Given the description of an element on the screen output the (x, y) to click on. 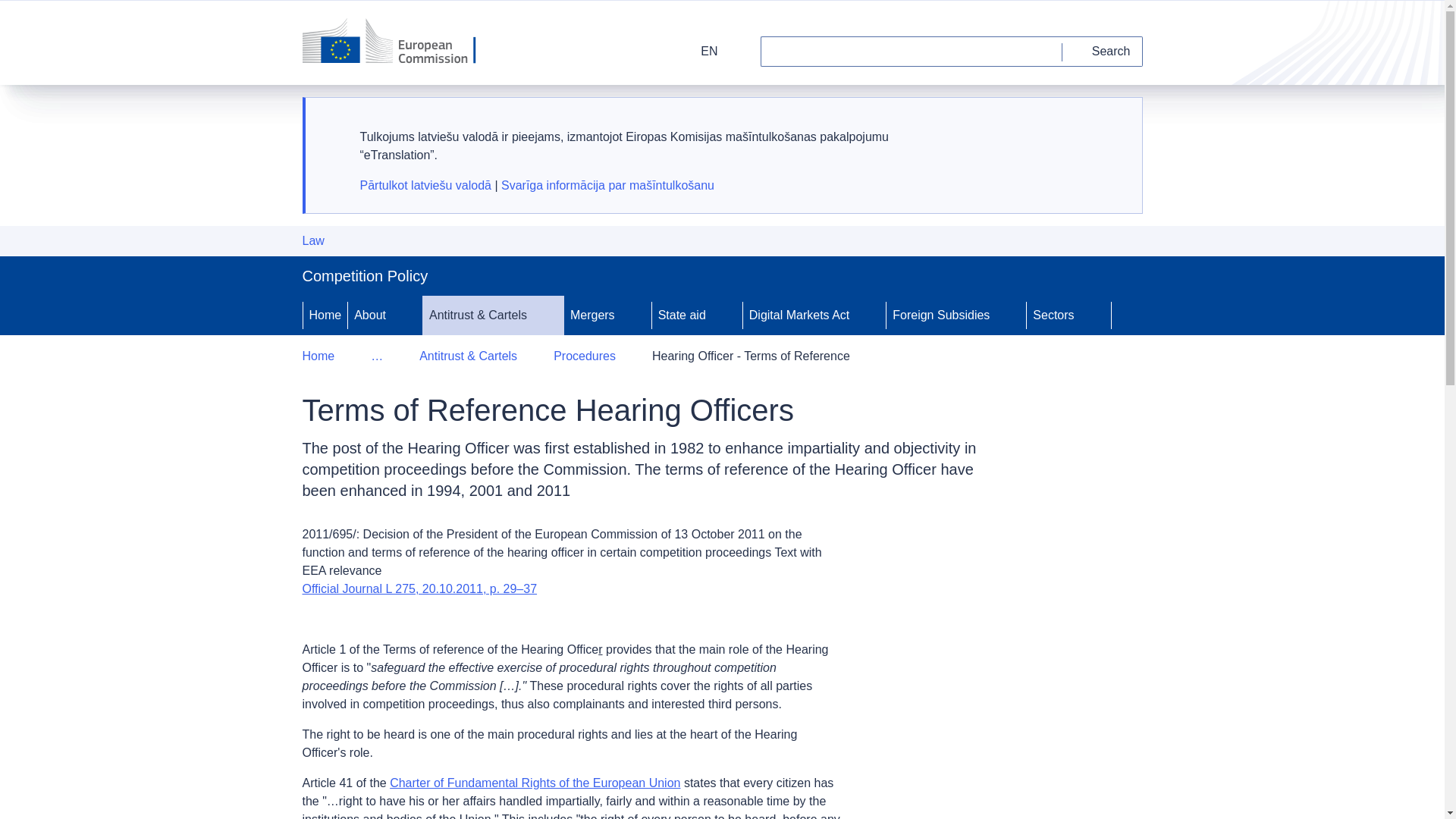
Law (312, 240)
European Commission (399, 42)
About (367, 314)
Home (324, 314)
EN (699, 51)
Search (1102, 51)
